Given the description of an element on the screen output the (x, y) to click on. 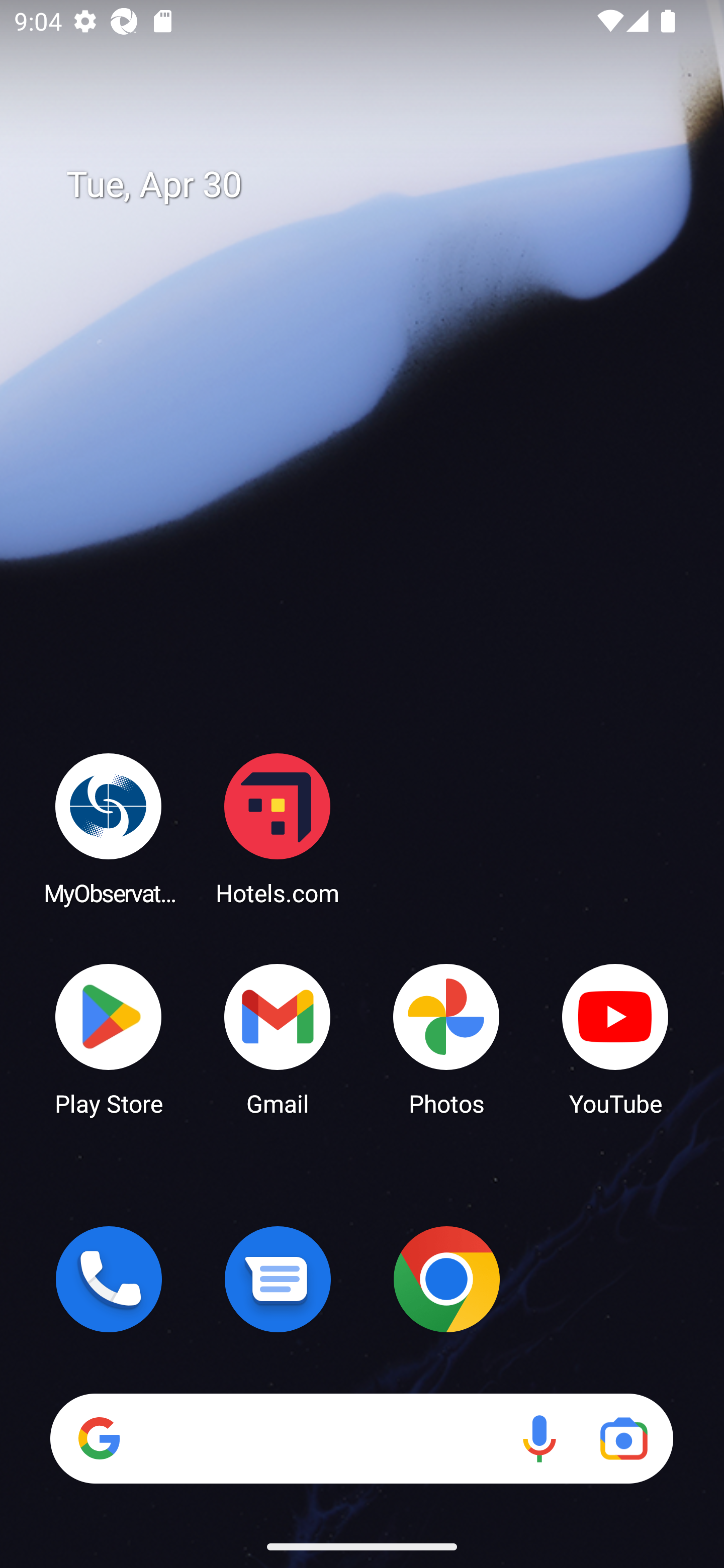
Tue, Apr 30 (375, 184)
MyObservatory (108, 828)
Hotels.com (277, 828)
Play Store (108, 1038)
Gmail (277, 1038)
Photos (445, 1038)
YouTube (615, 1038)
Phone (108, 1279)
Messages (277, 1279)
Chrome (446, 1279)
Voice search (539, 1438)
Google Lens (623, 1438)
